Given the description of an element on the screen output the (x, y) to click on. 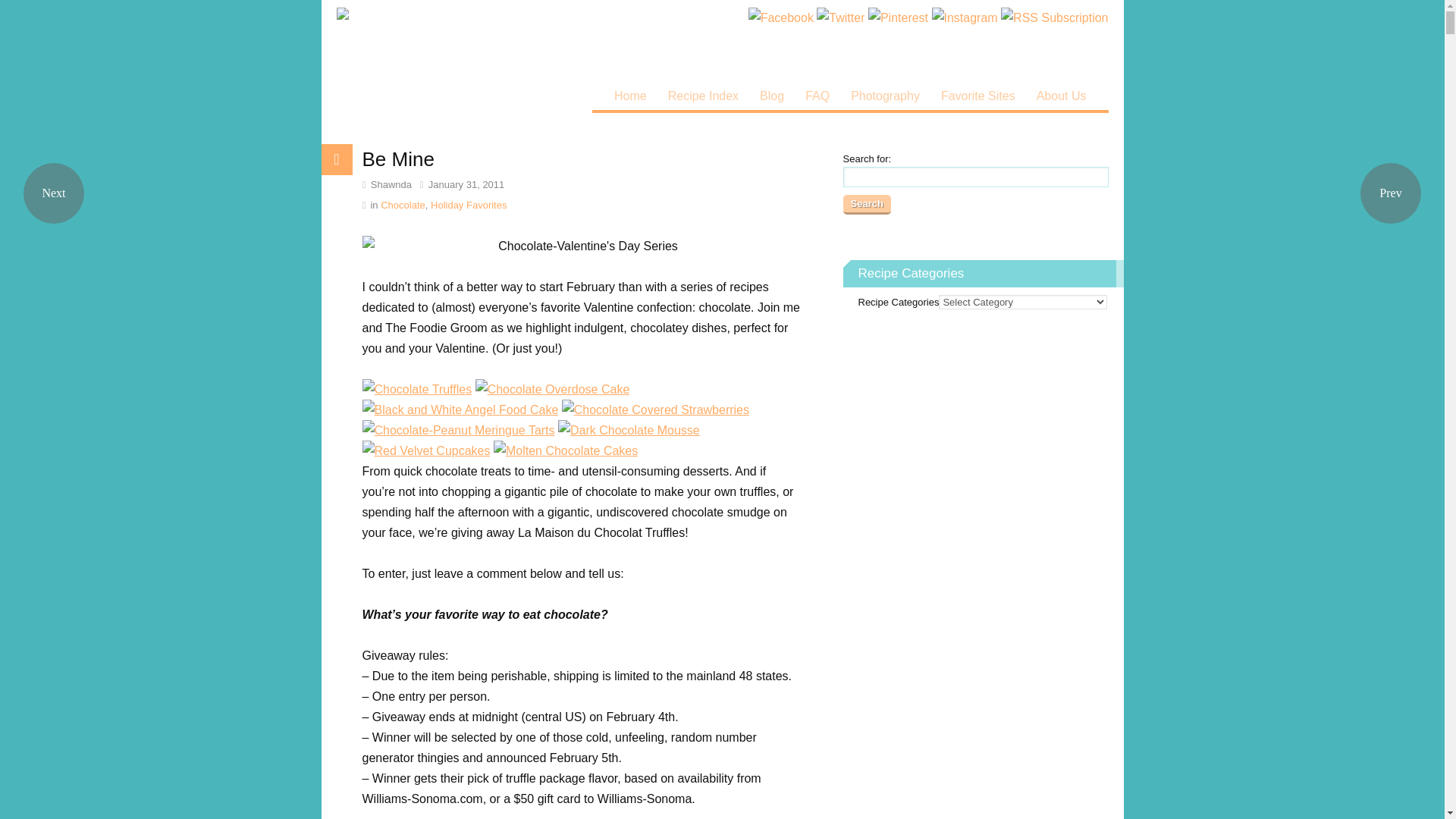
Chocolate-Peanut Meringue Tarts (458, 430)
Favorite Sites (978, 95)
Home (631, 95)
Chocolate Truffles (416, 389)
Molten Chocolate Cakes (565, 450)
Photography (885, 95)
About Us (1061, 95)
Chocolate Covered Strawberries (655, 409)
visit the home page (478, 54)
FAQ (817, 95)
